Given the description of an element on the screen output the (x, y) to click on. 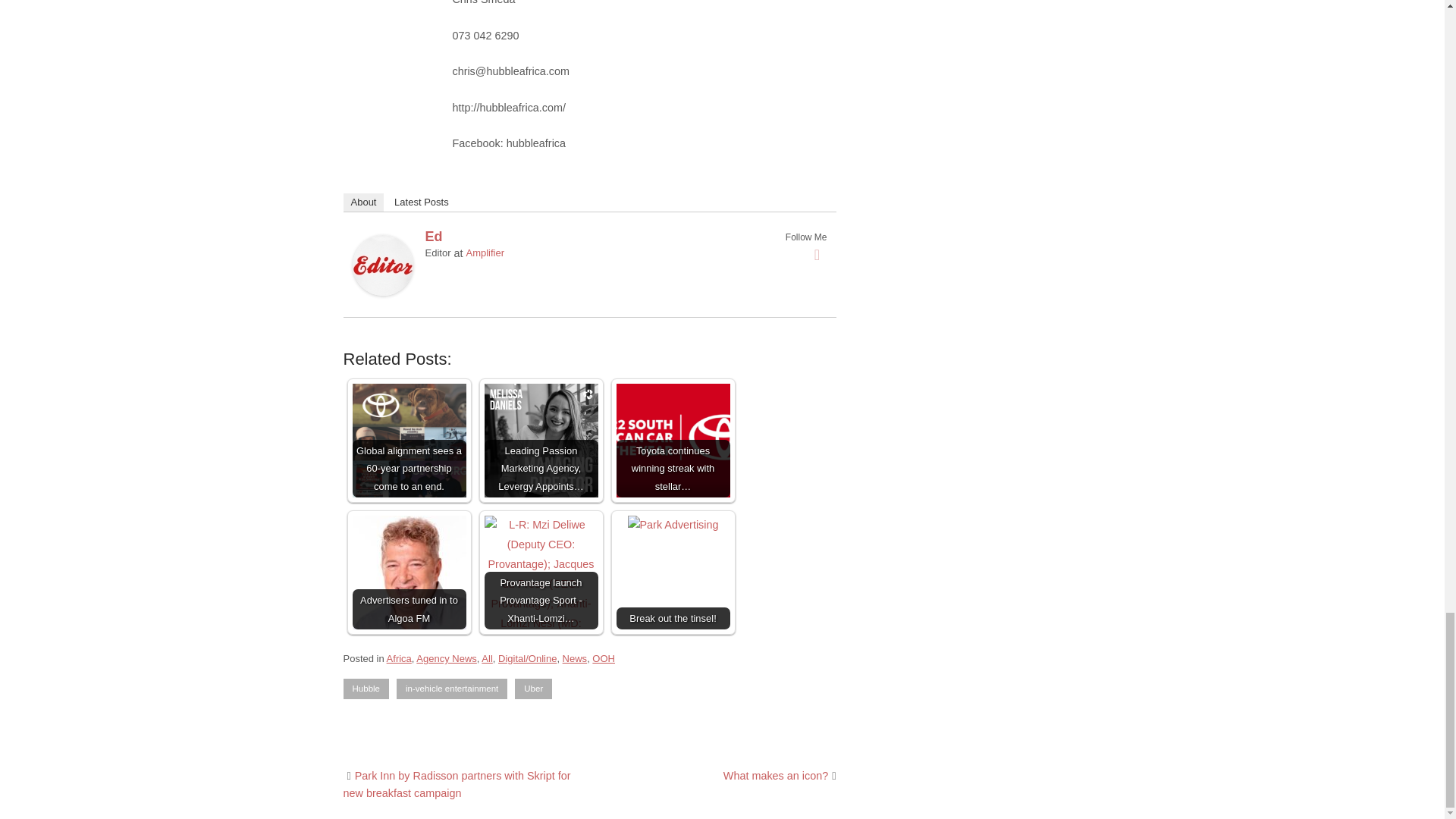
Ed (433, 236)
Ed (382, 291)
Advertisers tuned in to Algoa FM (408, 572)
Twitter (817, 254)
Latest Posts (422, 202)
Break out the tinsel! (673, 525)
About (363, 202)
